Given the description of an element on the screen output the (x, y) to click on. 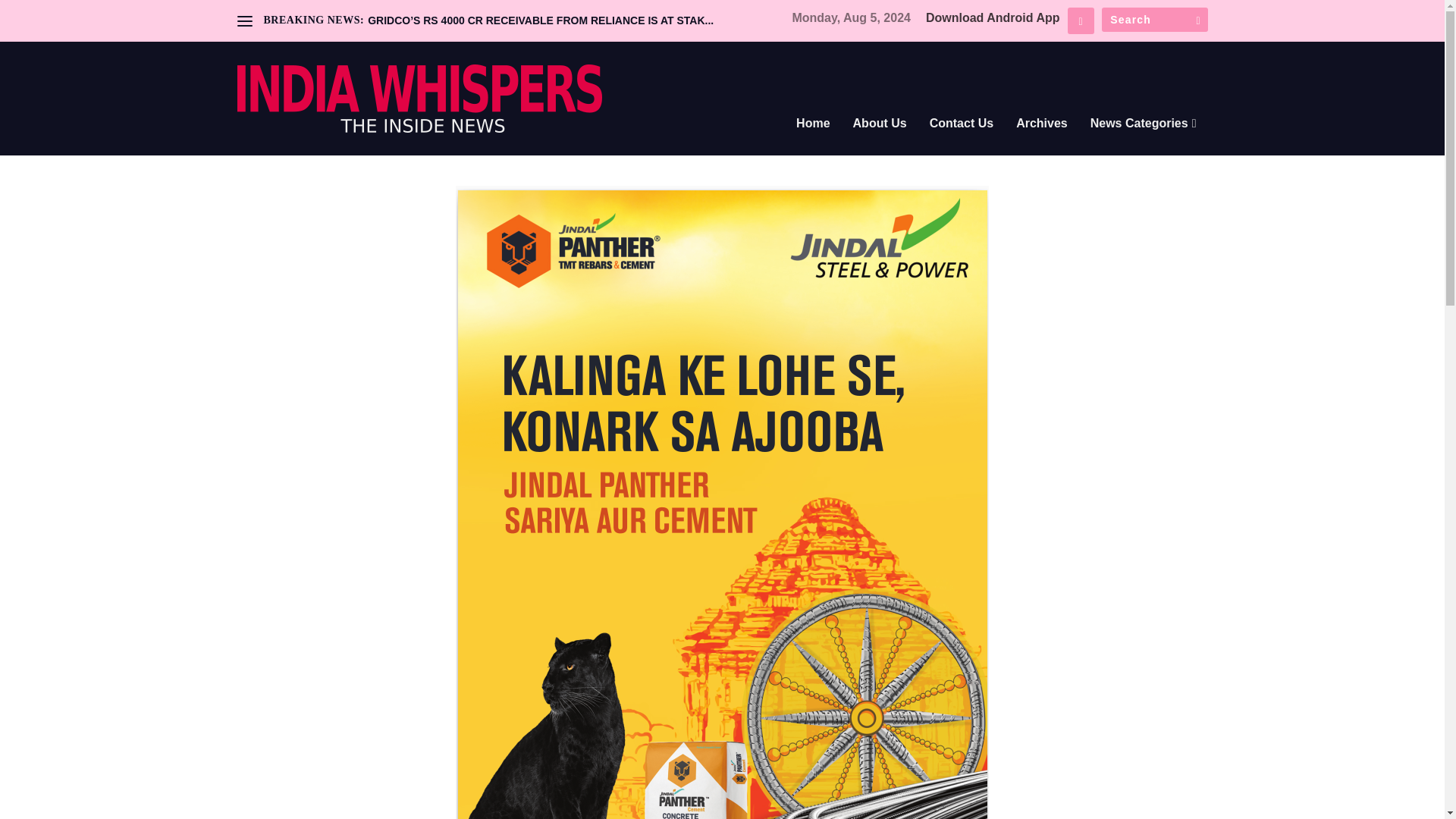
Contact Us (961, 143)
Search for: (1153, 19)
Archives (1041, 143)
Home (812, 143)
News Categories (1143, 143)
About Us (880, 143)
Download Android App (992, 17)
